Given the description of an element on the screen output the (x, y) to click on. 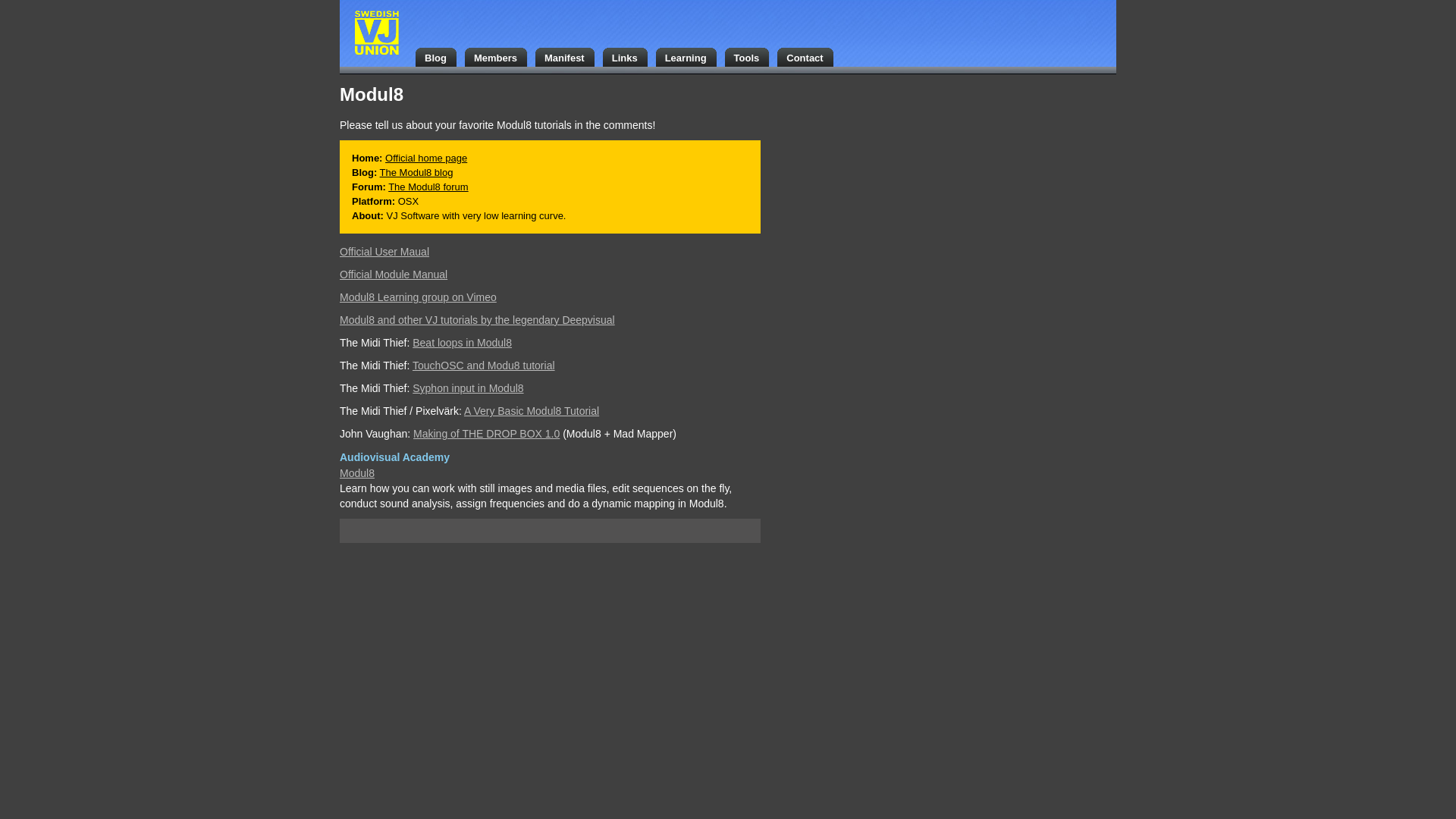
Links (629, 56)
Official home page (426, 157)
Syphon input in Modul8 (467, 387)
TouchOSC and Modu8 tutorial (483, 365)
Making of THE DROP BOX 1.0 (486, 433)
Learning (690, 56)
Modul8 Learning group on Vimeo (417, 297)
Official User Maual (384, 251)
A Very Basic Modul8 Tutorial (531, 410)
Official Module Manual (392, 274)
